Given the description of an element on the screen output the (x, y) to click on. 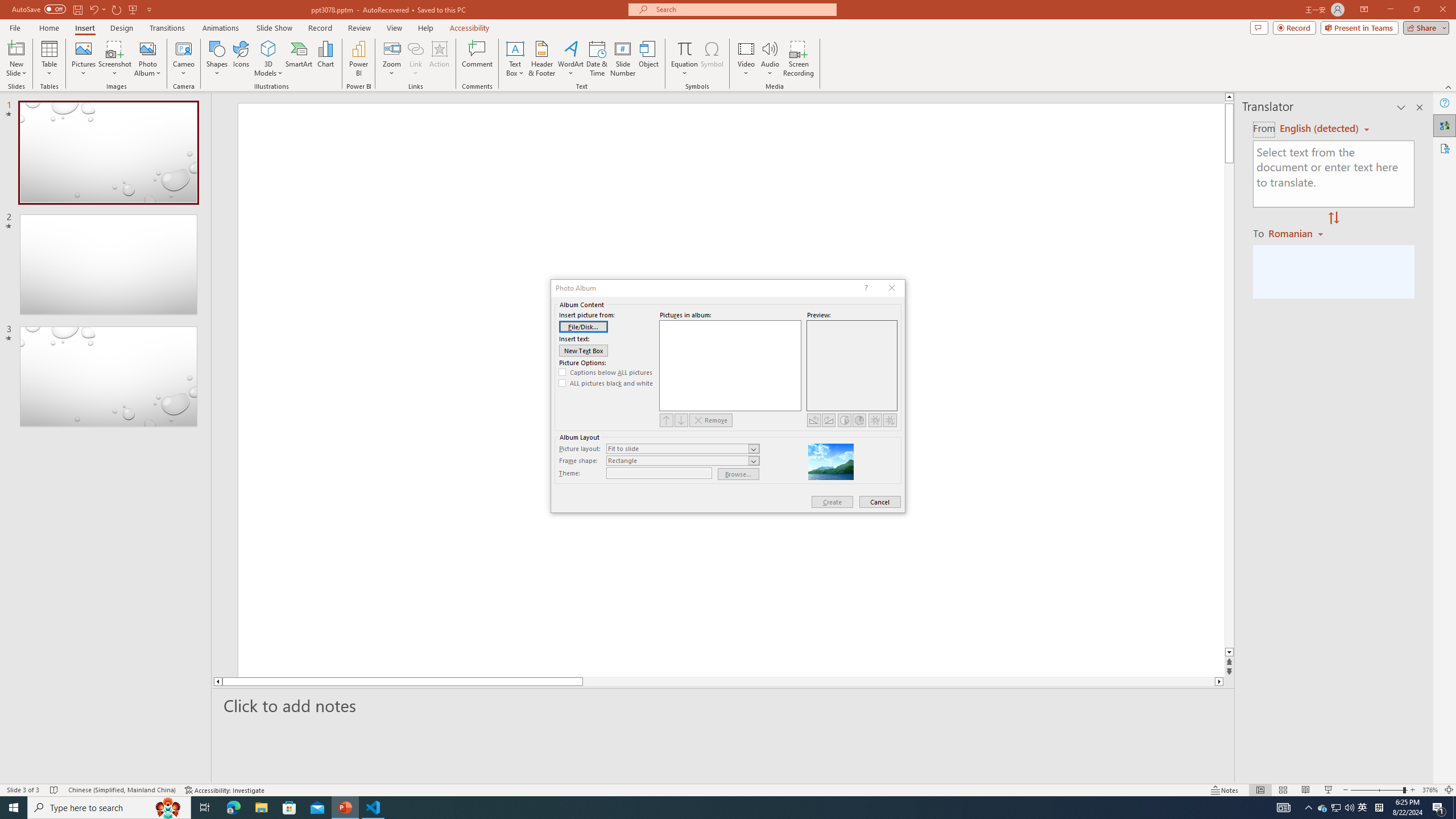
Action (439, 58)
Previous Item (666, 419)
Table (49, 58)
SmartArt... (298, 58)
Link (415, 48)
Draw Horizontal Text Box (515, 48)
